Given the description of an element on the screen output the (x, y) to click on. 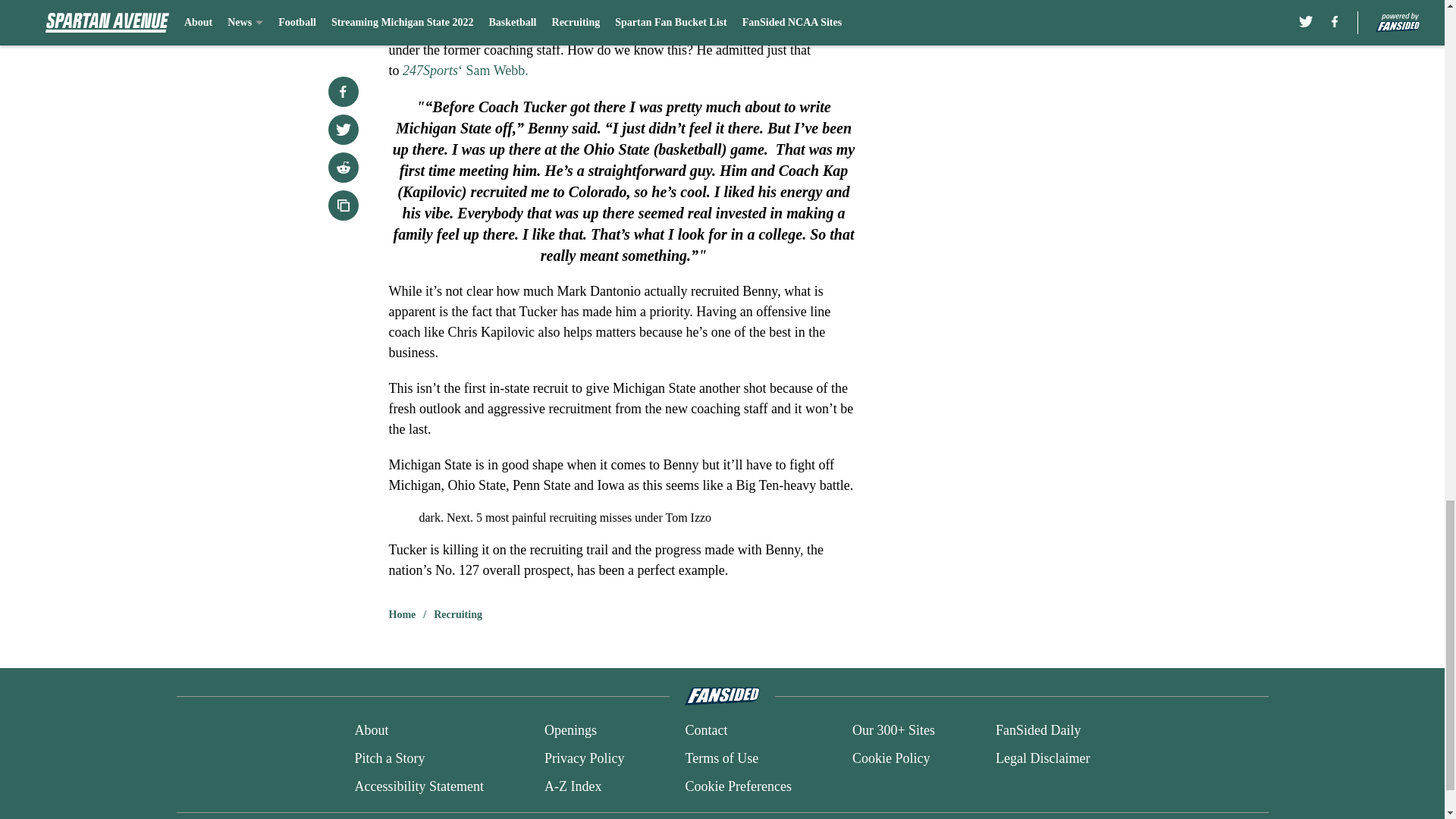
FanSided Daily (1038, 730)
About (370, 730)
Terms of Use (721, 758)
Privacy Policy (584, 758)
Openings (570, 730)
Accessibility Statement (418, 786)
Recruiting (457, 614)
Home (401, 614)
Pitch a Story (389, 758)
Contact (705, 730)
